Given the description of an element on the screen output the (x, y) to click on. 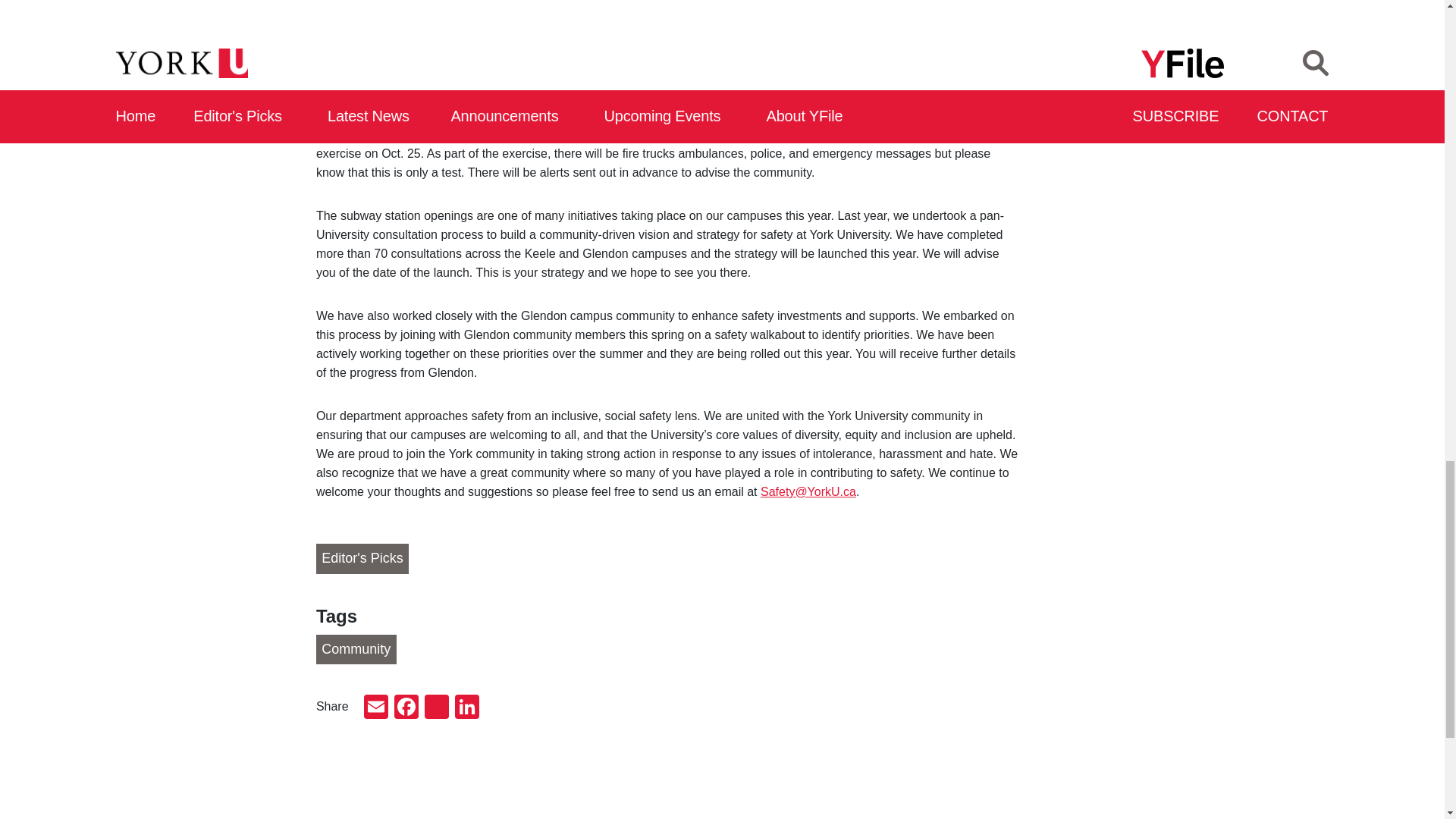
Email (376, 708)
Facebook (406, 708)
Facebook (406, 708)
Email (376, 708)
Community (355, 649)
Twitter (436, 708)
Editor's Picks (362, 558)
LinkedIn (466, 708)
